Given the description of an element on the screen output the (x, y) to click on. 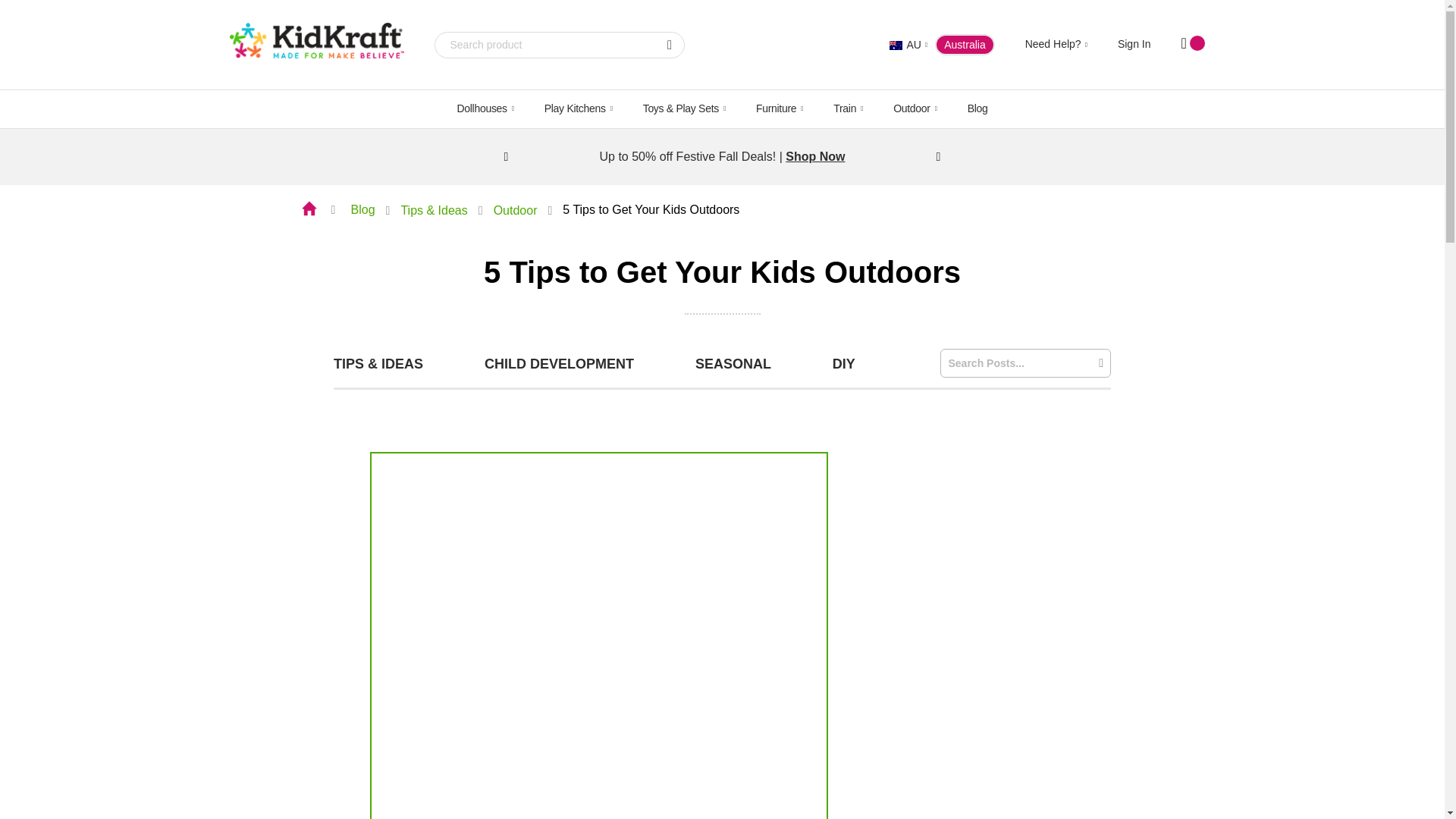
AU (908, 45)
Dollhouses Menu (484, 108)
Need Help? (1056, 44)
Play Kitchens (578, 108)
Sign In (1134, 43)
Search (668, 44)
My Cart (1192, 45)
Train Menu (847, 108)
kidkraft.com (315, 44)
Furniture Menu (779, 108)
Dollhouses (484, 108)
Play Kitchens Menu (578, 108)
Australia (895, 44)
Outdoor Menu (914, 108)
